Given the description of an element on the screen output the (x, y) to click on. 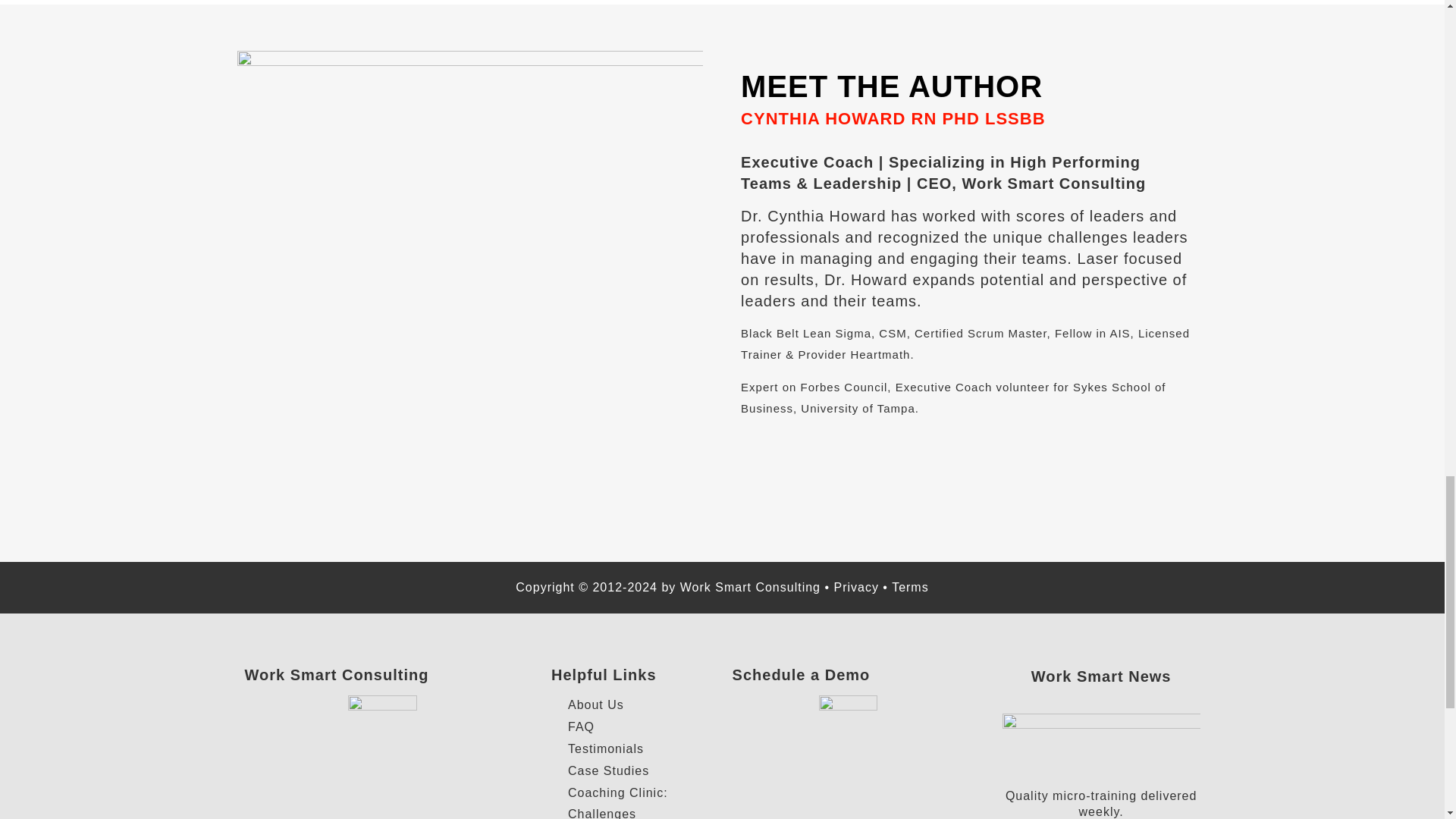
Terms (909, 586)
About Us (634, 704)
FAQ (634, 726)
Testimonials (634, 749)
Privacy (854, 586)
Case Studies (634, 771)
